Given the description of an element on the screen output the (x, y) to click on. 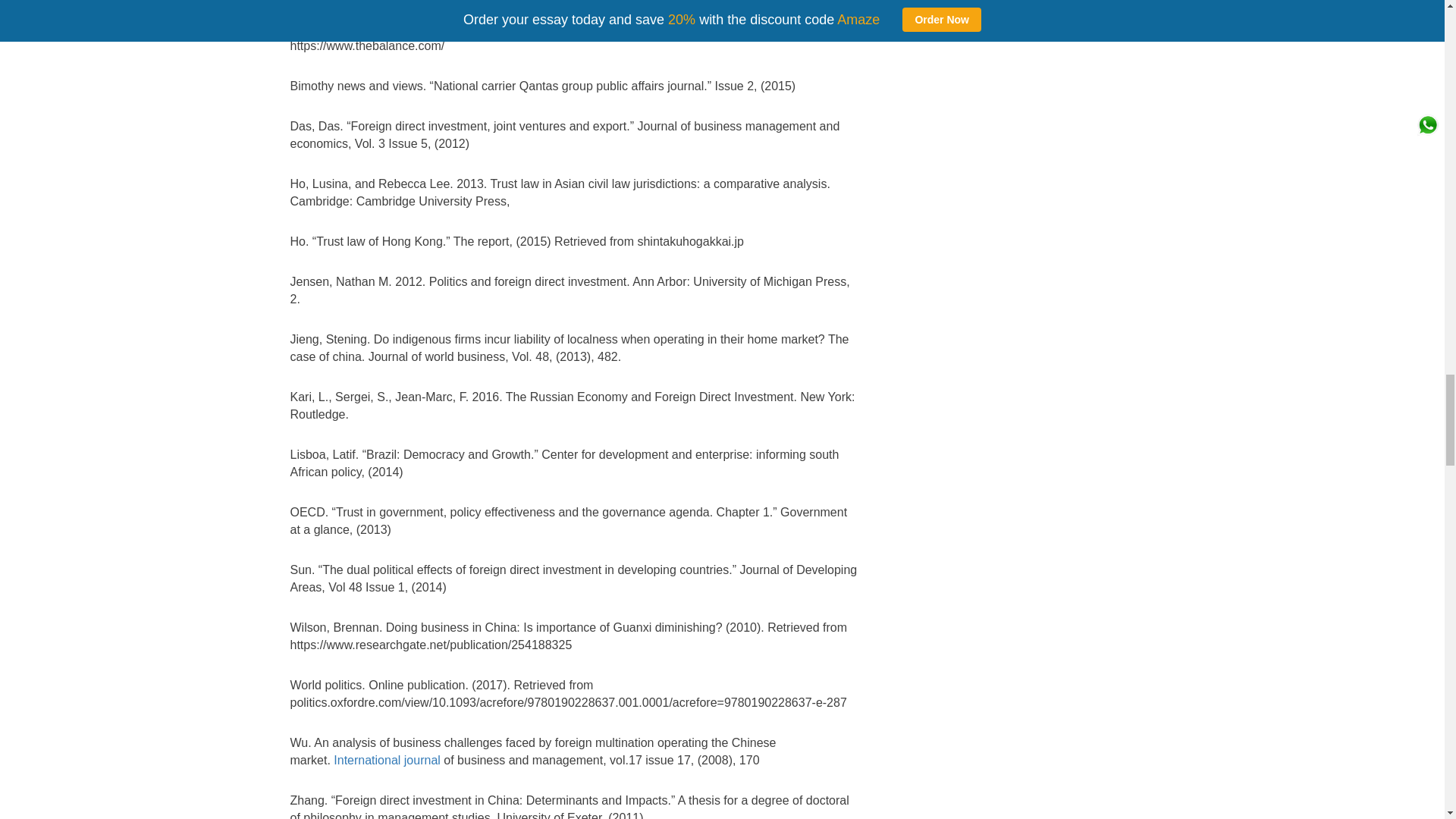
International journal (387, 759)
